Given the description of an element on the screen output the (x, y) to click on. 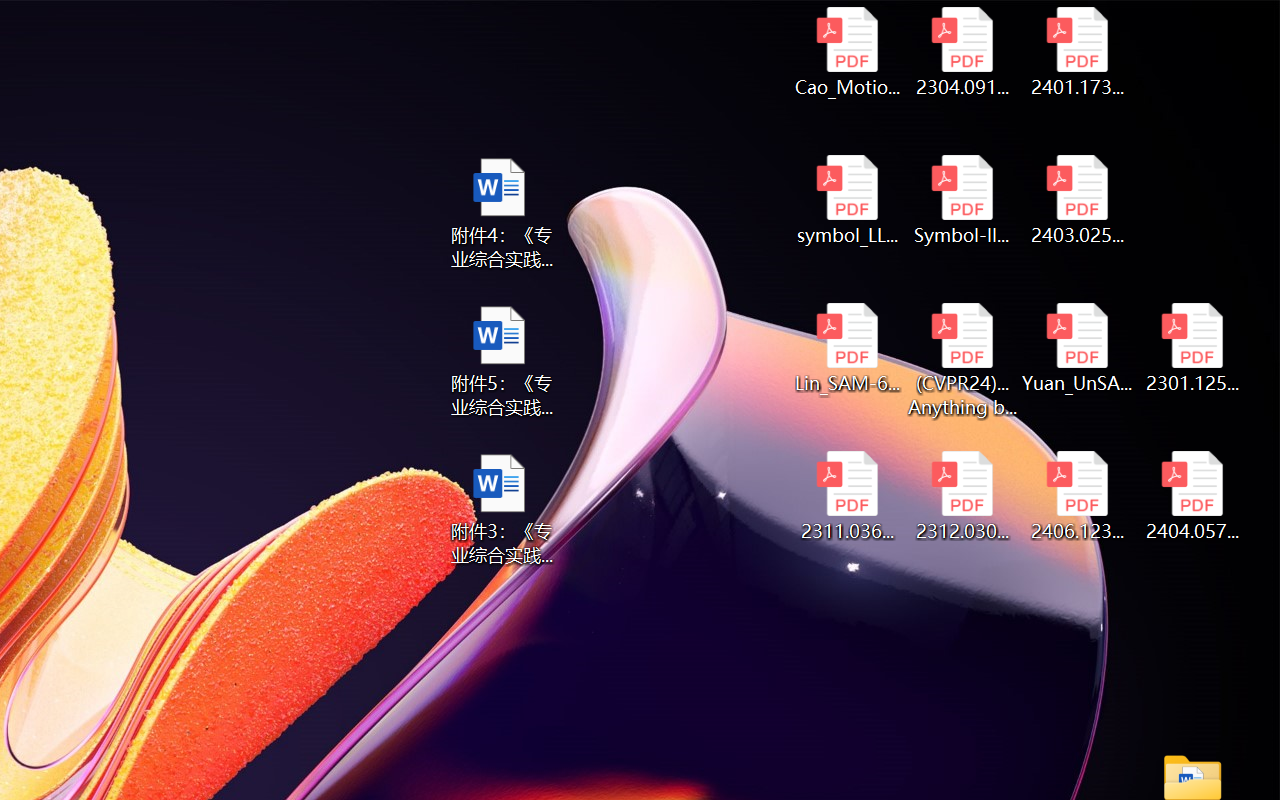
2301.12597v3.pdf (1192, 348)
